Given the description of an element on the screen output the (x, y) to click on. 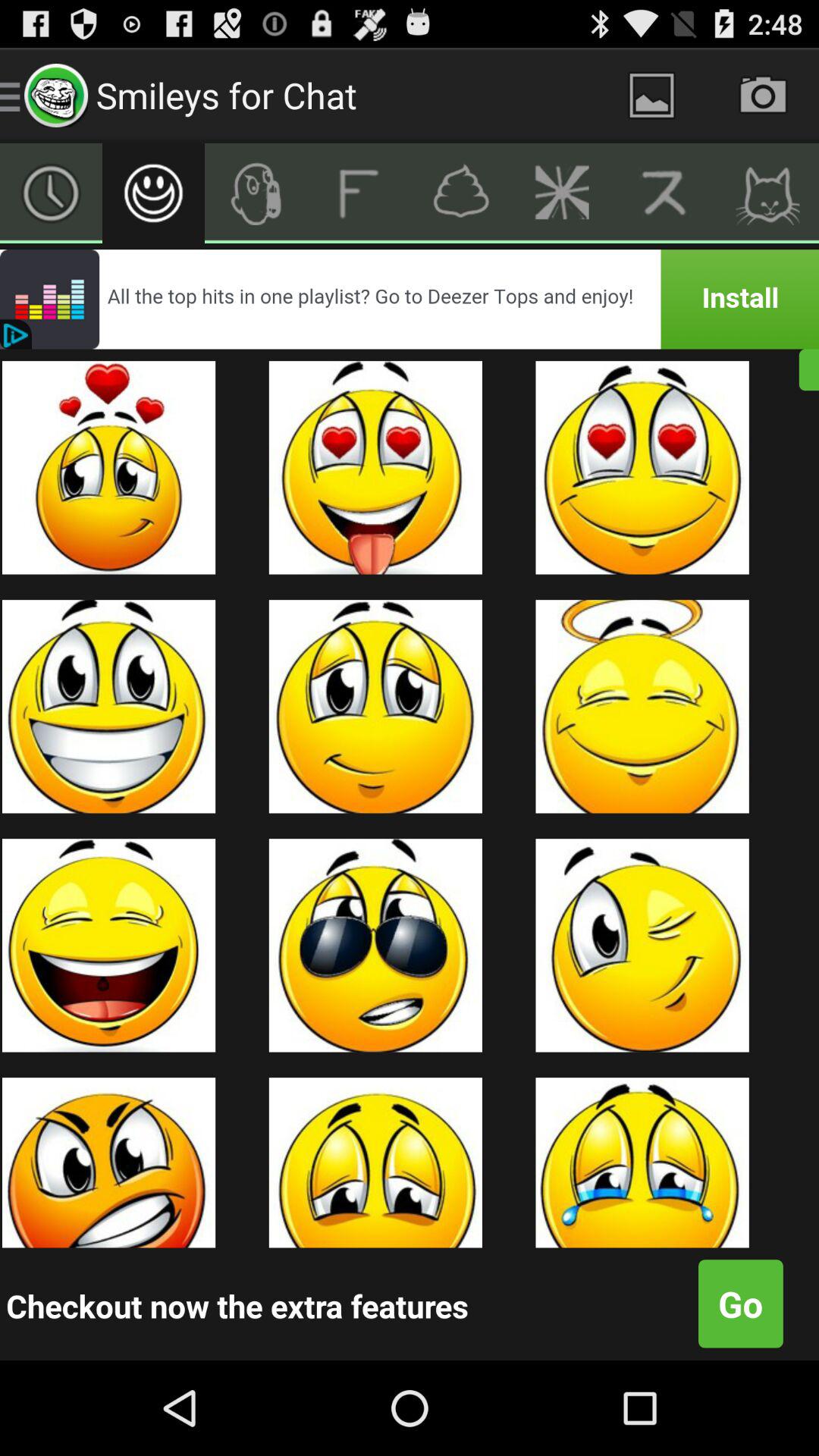
change the brightness (562, 193)
